Given the description of an element on the screen output the (x, y) to click on. 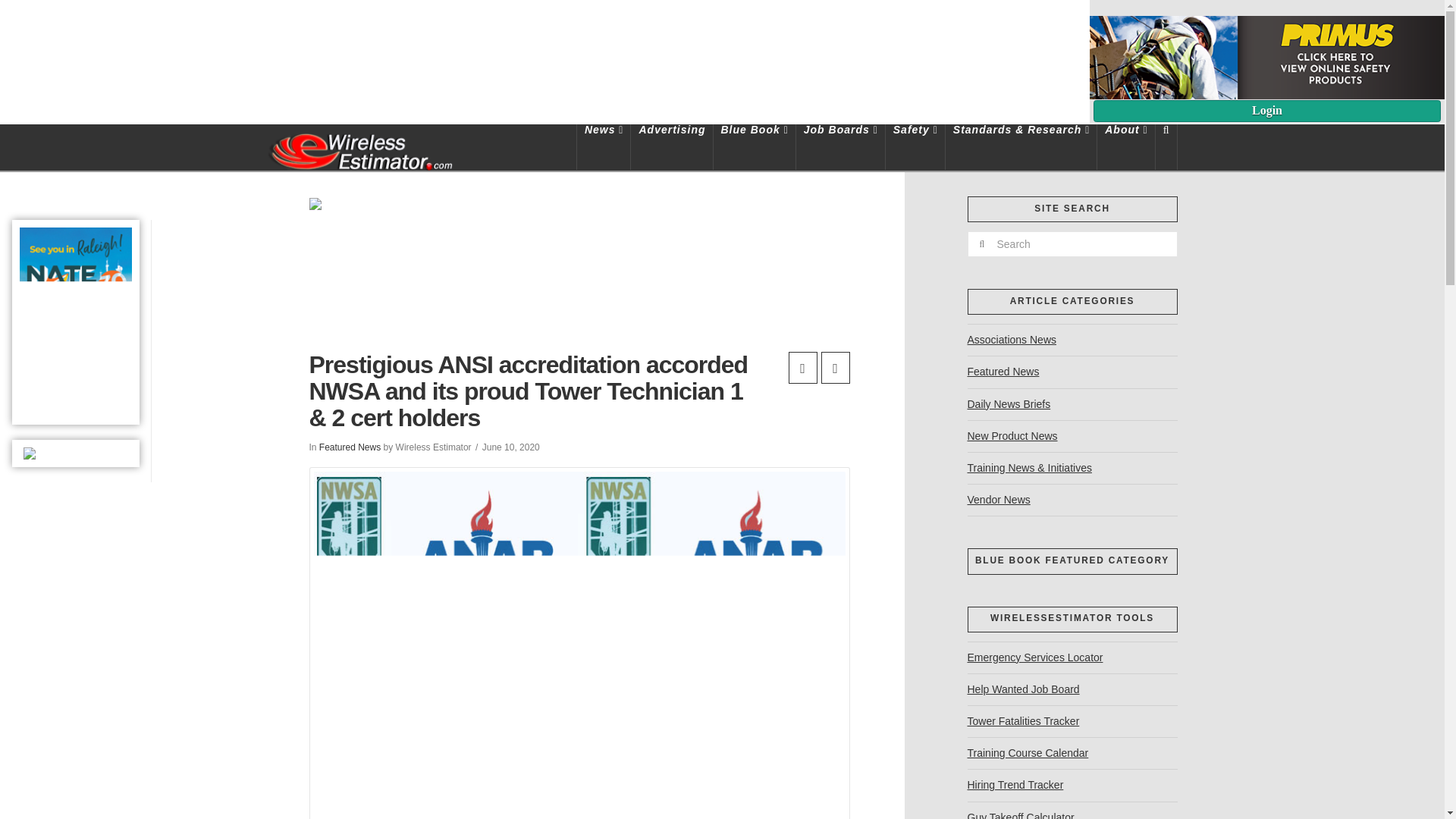
The web's leading wireless construction portal (359, 148)
News (603, 146)
Job Boards (840, 146)
Blue Book (753, 146)
Advertising (671, 146)
Login (1267, 110)
